Given the description of an element on the screen output the (x, y) to click on. 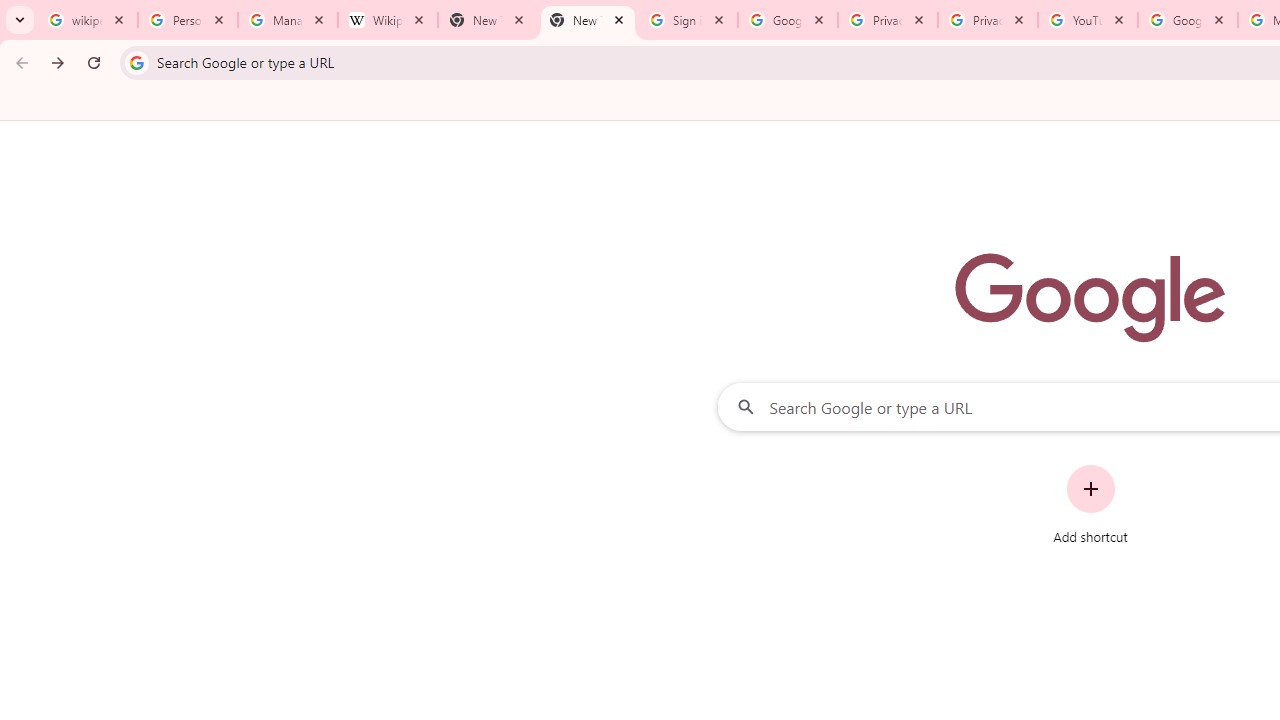
New Tab (587, 20)
Google Account Help (1187, 20)
Google Drive: Sign-in (788, 20)
Add shortcut (1090, 504)
YouTube (1087, 20)
Sign in - Google Accounts (687, 20)
Manage your Location History - Google Search Help (287, 20)
